Given the description of an element on the screen output the (x, y) to click on. 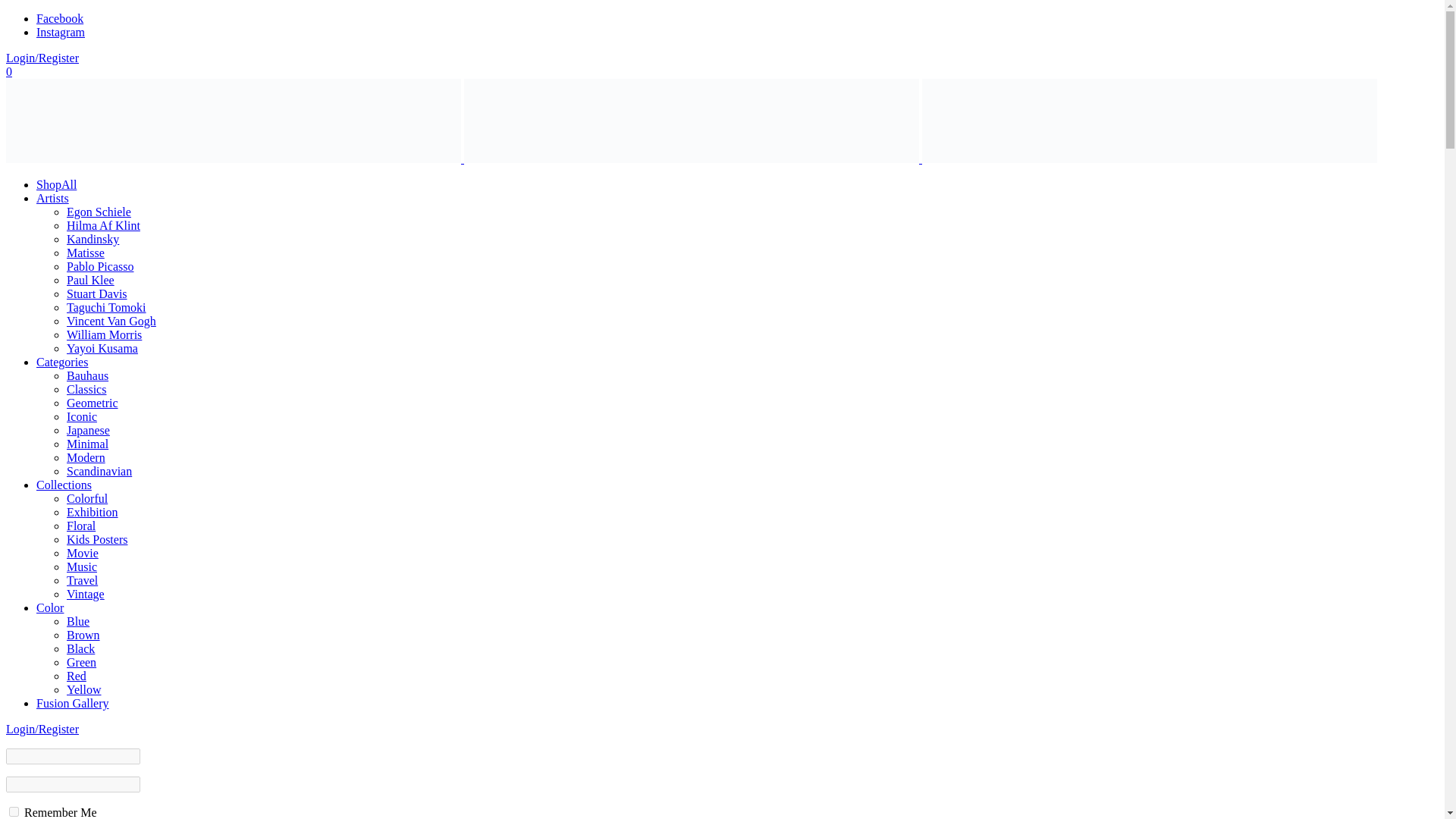
Japanese (88, 430)
Kids Posters (97, 539)
My Account (41, 728)
My Account (41, 57)
Exhibition (91, 512)
Minimal (86, 443)
Paul Klee (90, 279)
Brown (83, 634)
Vincent Van Gogh (110, 320)
Kandinsky (92, 238)
